Given the description of an element on the screen output the (x, y) to click on. 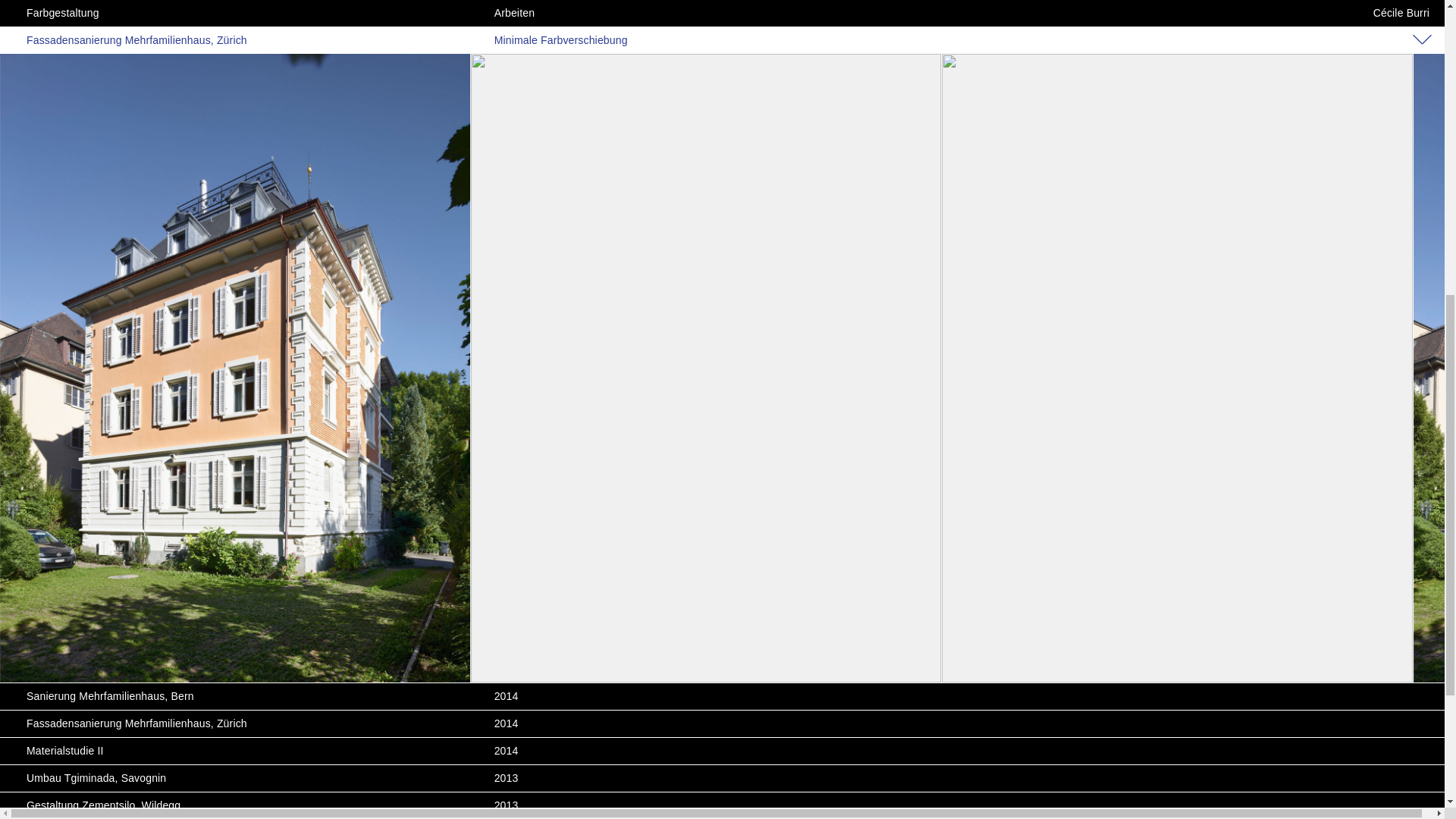
Dachausbau Mehrfamilienhaus, Bern
2016 Element type: text (727, 477)
Arbeiten Element type: text (728, 586)
Umbau Schlossscheune, Uster
2018 Element type: text (727, 286)
Umbau Doppeleinfamilienhaus, Jona SG
2016 Element type: text (727, 504)
Sanierung Wohnsiedlung, Horgen
2015 Element type: text (727, 559)
Sanierung Wohnung, Horgen
2018 Element type: text (727, 313)
Materialstudie III
2015 Element type: text (727, 586)
Sanierung Gewerbeliegenschaft, Liebefeld
2017 Element type: text (727, 395)
Farbgestaltung Element type: text (260, 586)
